Given the description of an element on the screen output the (x, y) to click on. 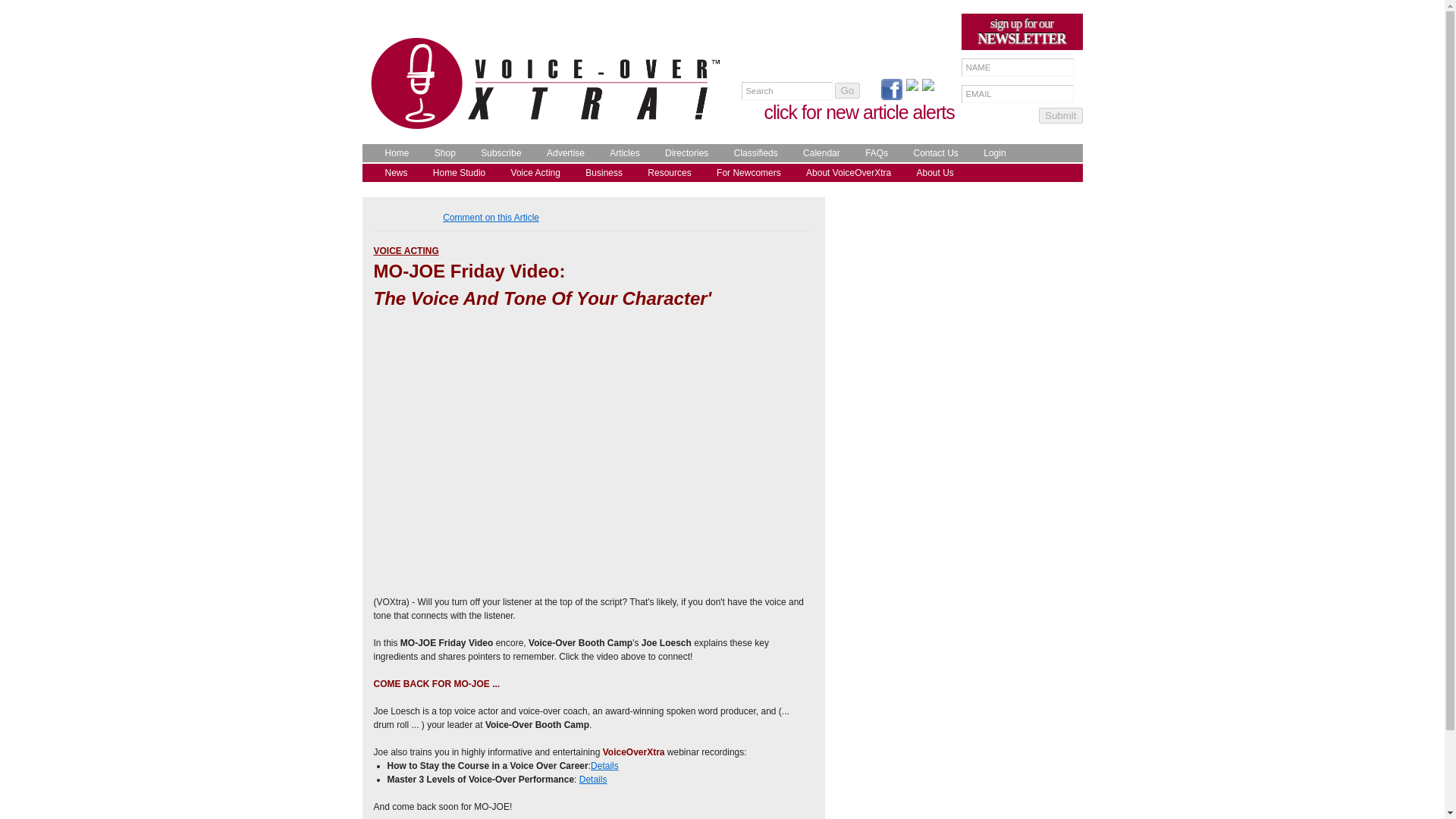
YouTube video player (584, 445)
Classifieds (751, 152)
NAME (1017, 67)
FAQs (872, 152)
News (392, 172)
Shop (440, 152)
Home Studio (454, 172)
Business (600, 172)
Calendar (817, 152)
Submit (1060, 115)
